Given the description of an element on the screen output the (x, y) to click on. 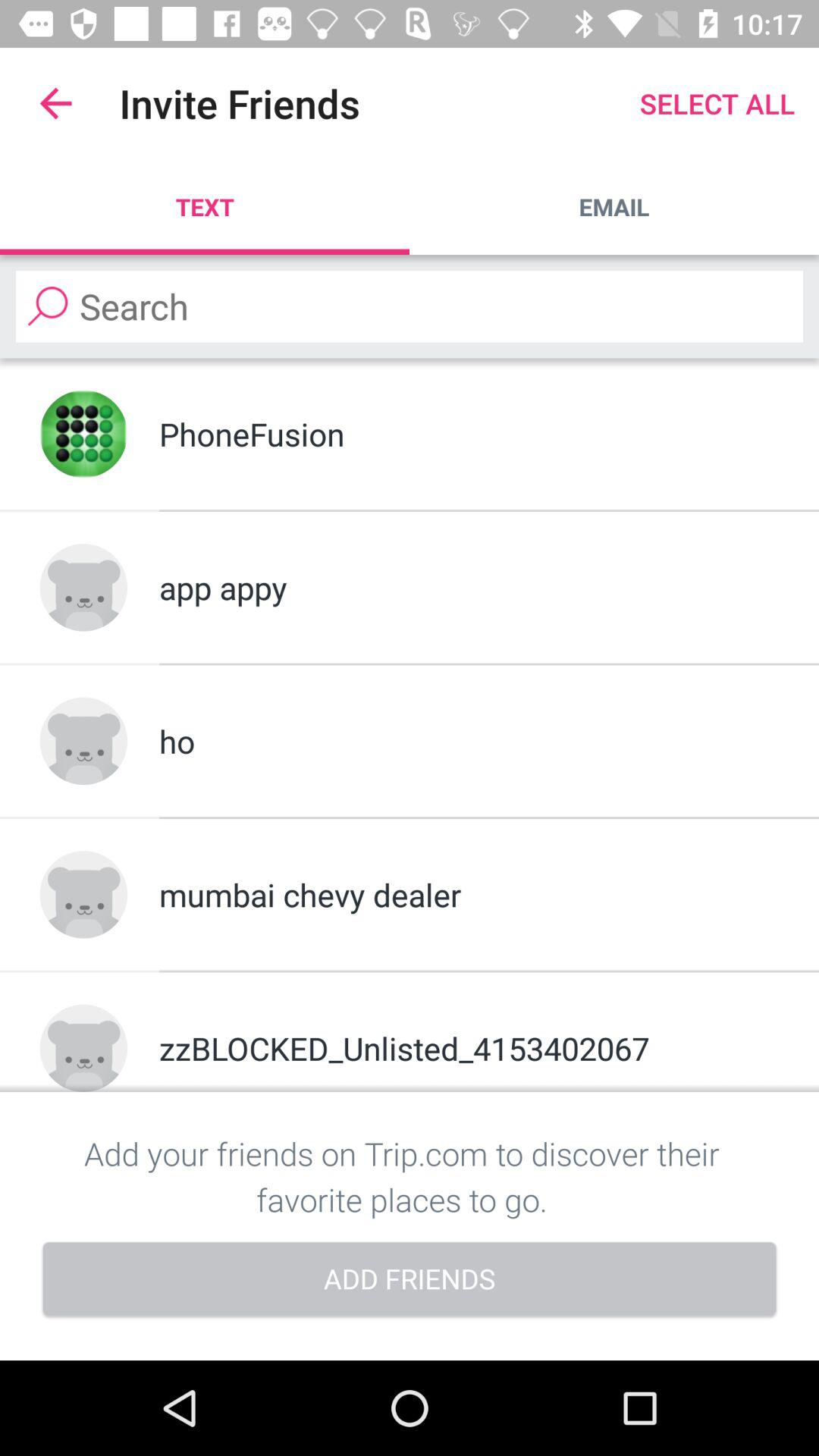
scroll until text icon (204, 206)
